Given the description of an element on the screen output the (x, y) to click on. 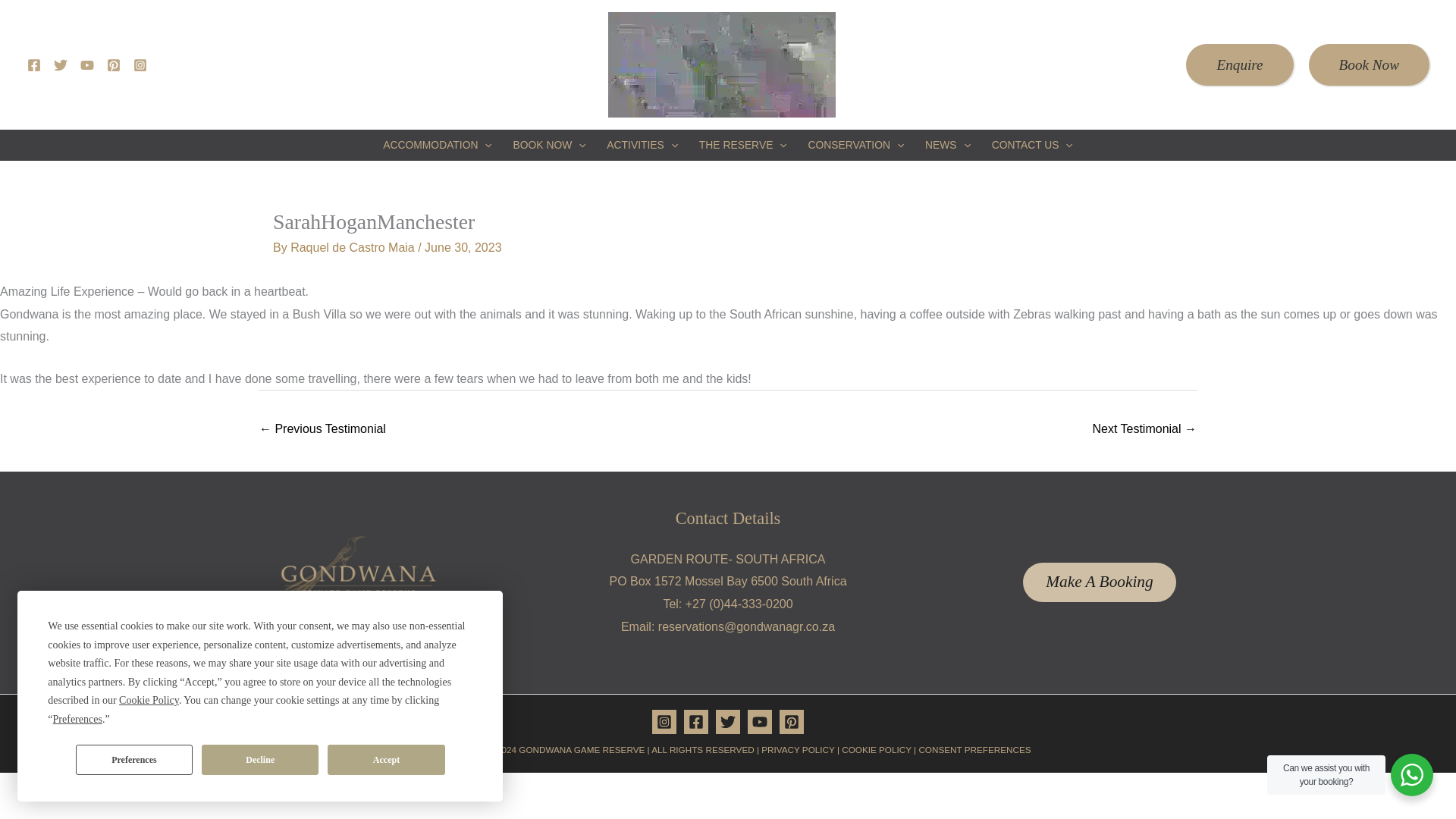
Sammy Byrne (322, 430)
ACCOMMODATION (437, 144)
ACTIVITIES (641, 144)
Book Now (1368, 65)
View all posts by Raquel de Castro Maia (353, 246)
Enquire (1239, 65)
BOOK NOW (549, 144)
Nick F (1144, 430)
